Given the description of an element on the screen output the (x, y) to click on. 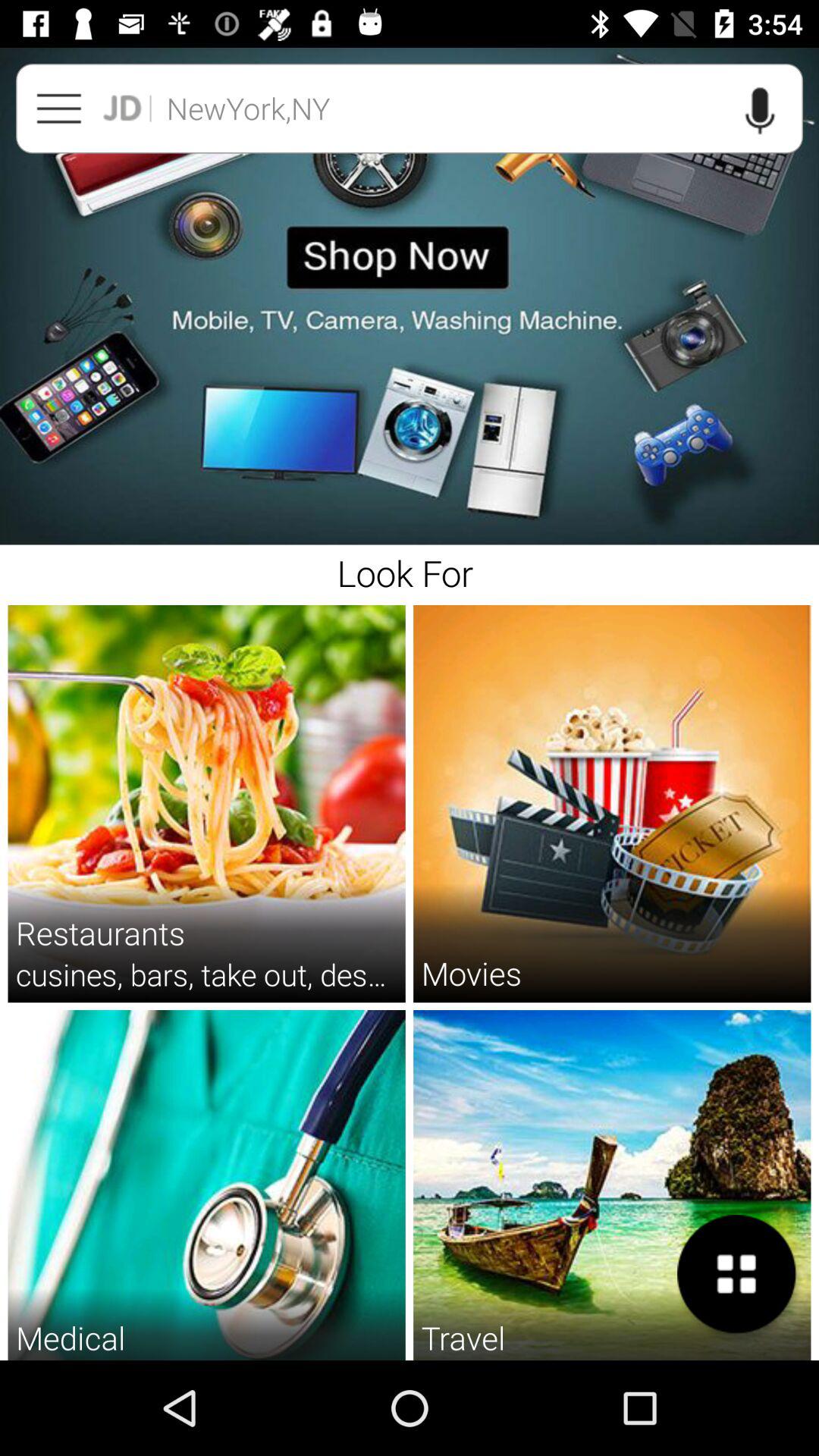
turn on the doctors hospitals diagnostic icon (206, 1359)
